Given the description of an element on the screen output the (x, y) to click on. 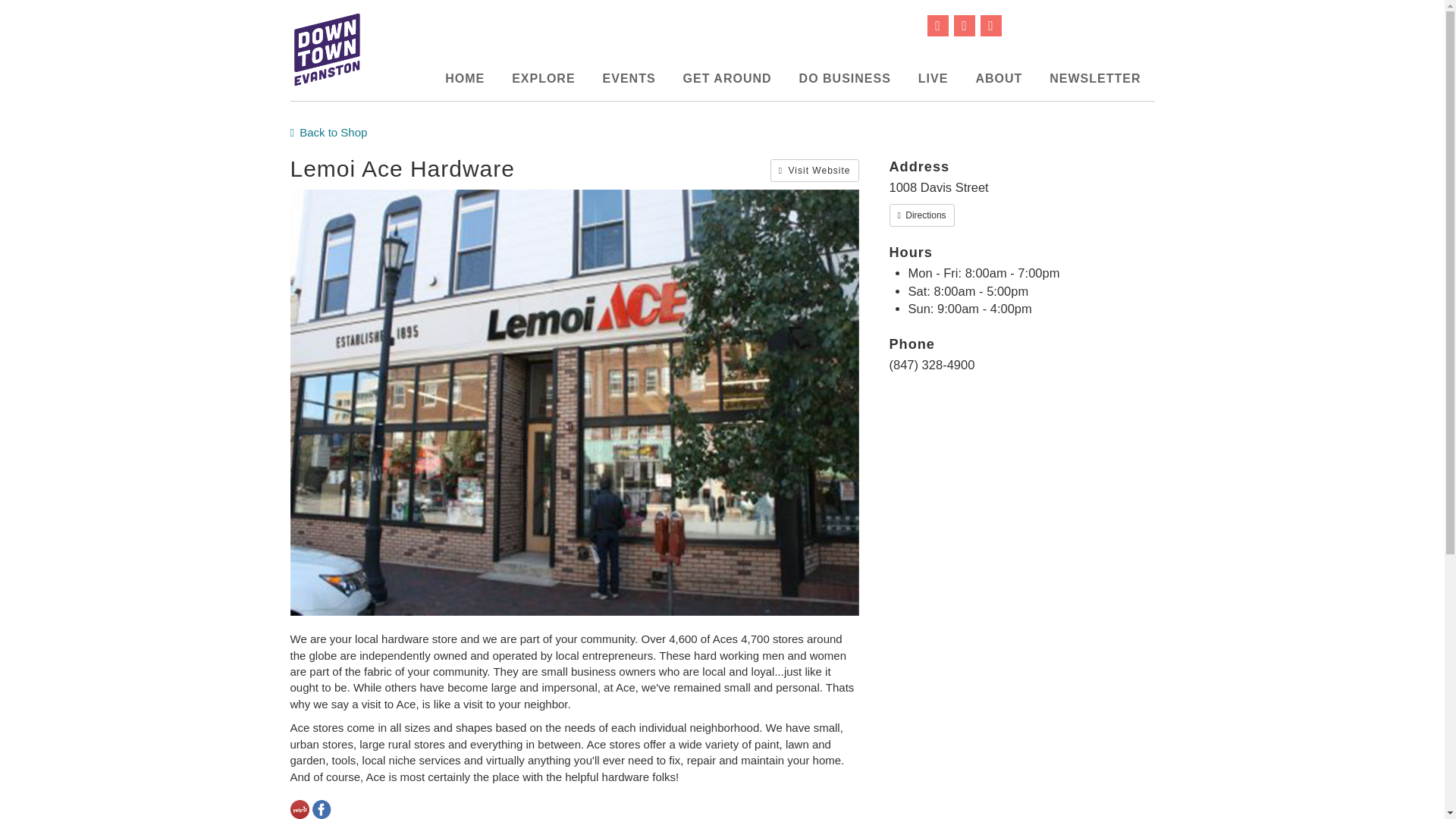
HOME (463, 78)
DO BUSINESS (845, 78)
NEWSLETTER (1094, 78)
GET AROUND (727, 78)
EXPLORE (542, 78)
ABOUT (997, 78)
LIVE (933, 78)
EVENTS (629, 78)
